Given the description of an element on the screen output the (x, y) to click on. 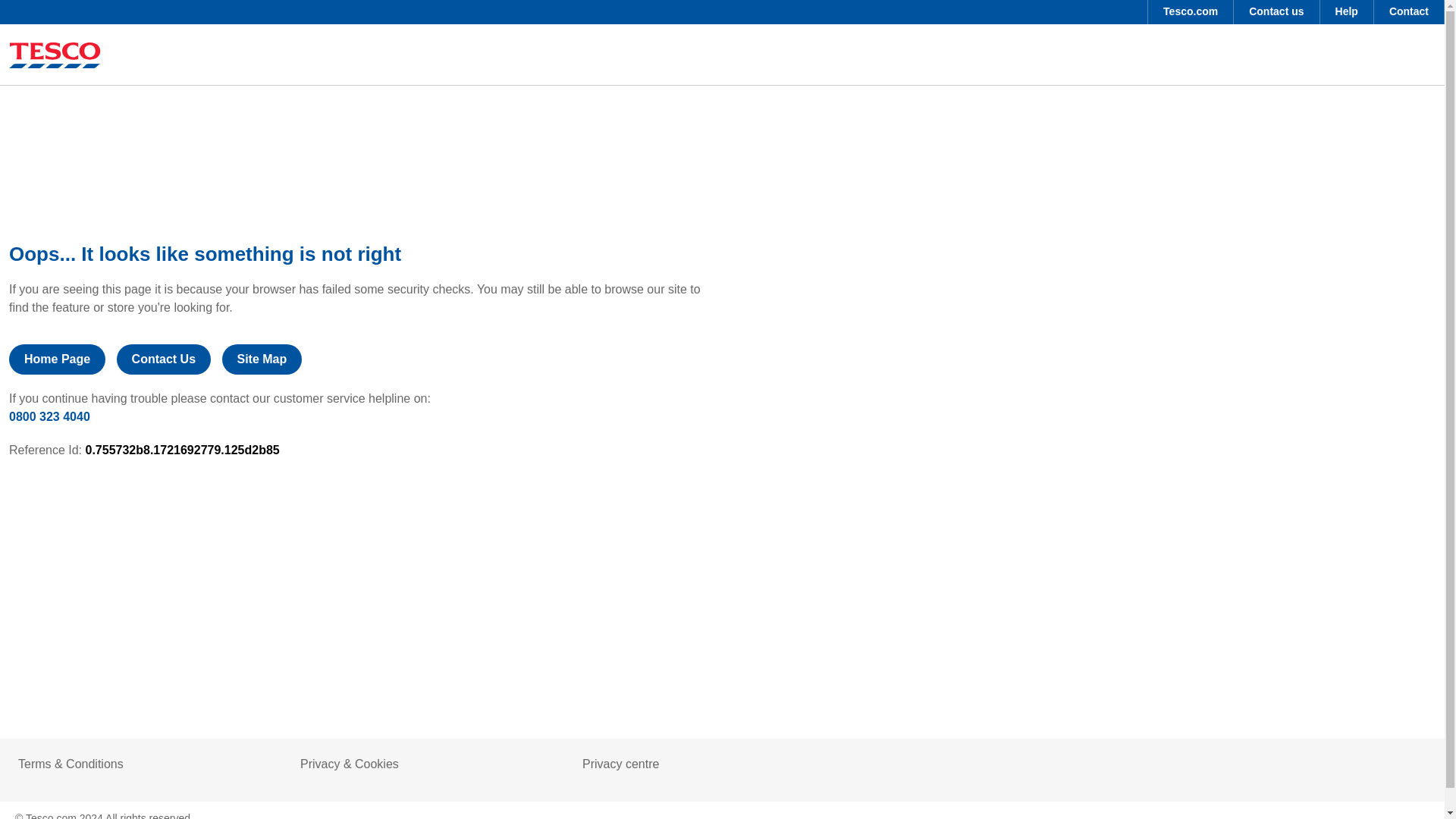
Tesco logo (54, 55)
Tesco logo (54, 57)
Contact (1409, 12)
Site Map (261, 358)
Contact us (1276, 12)
Tesco.com (1190, 12)
Home Page (56, 358)
Contact Us (163, 358)
Help (1346, 12)
